Given the description of an element on the screen output the (x, y) to click on. 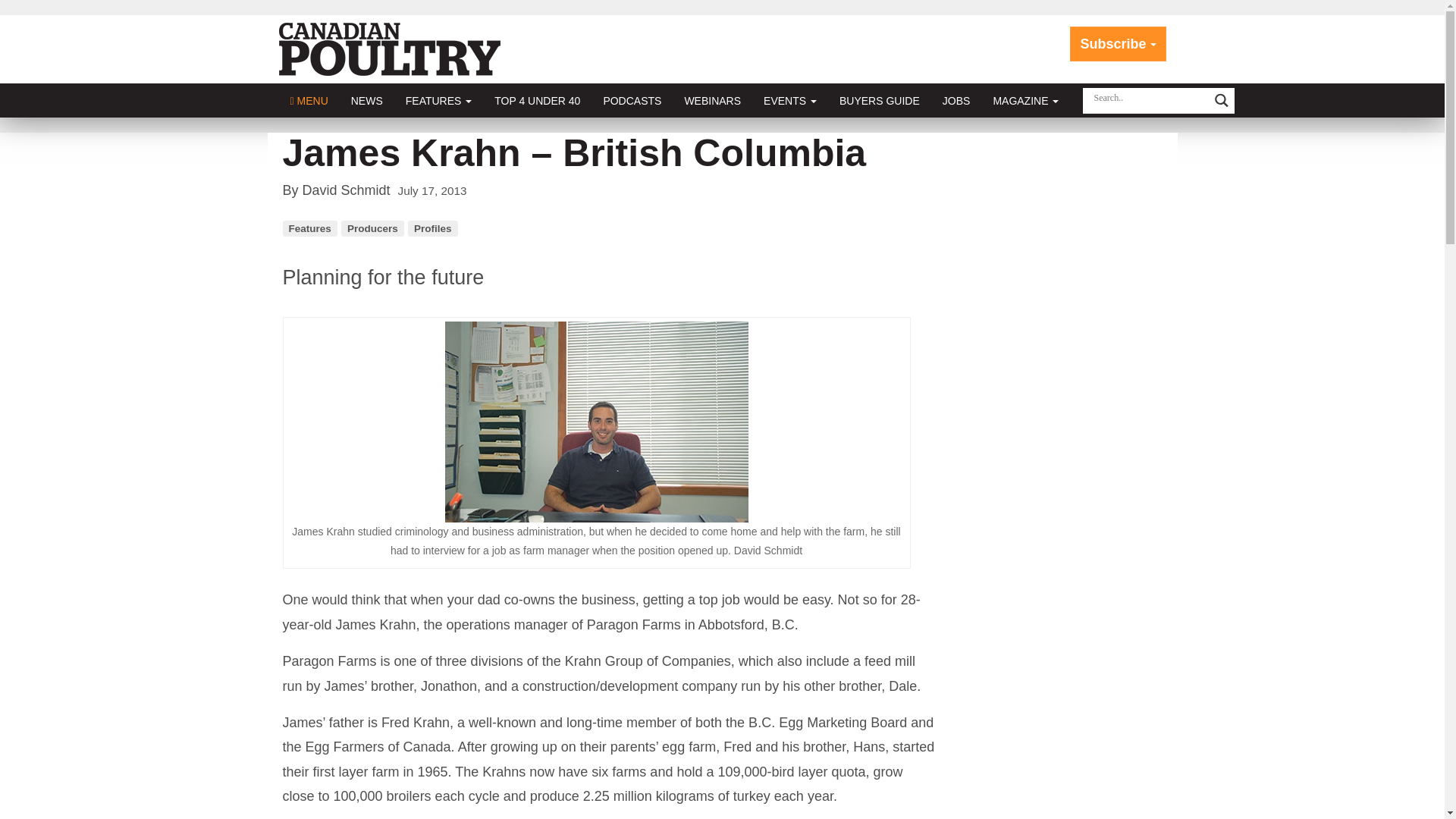
BUYERS GUIDE (879, 100)
TOP 4 UNDER 40 (537, 100)
Click to show site navigation (309, 100)
Subscribe (1118, 43)
EVENTS (790, 100)
Canadian Poultry Magazine (389, 48)
MAGAZINE (1025, 100)
JOBS (956, 100)
WEBINARS (712, 100)
PODCASTS (631, 100)
